Given the description of an element on the screen output the (x, y) to click on. 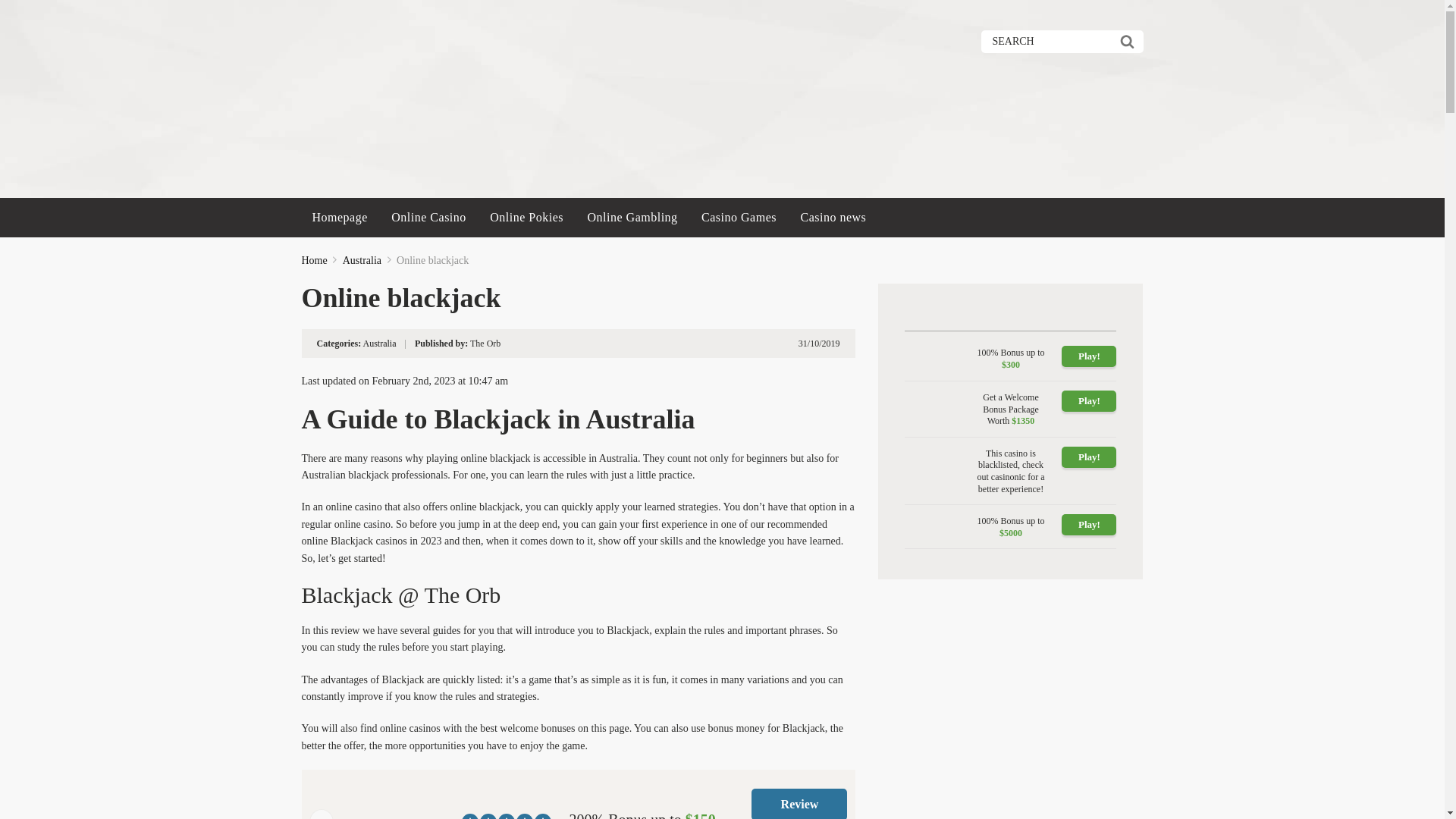
Online Pokies (526, 217)
Home (314, 260)
Casino Games (738, 217)
Australia (361, 260)
Online Gambling (633, 217)
Online Casino (428, 217)
Online blackjack (432, 260)
Homepage (340, 217)
